Given the description of an element on the screen output the (x, y) to click on. 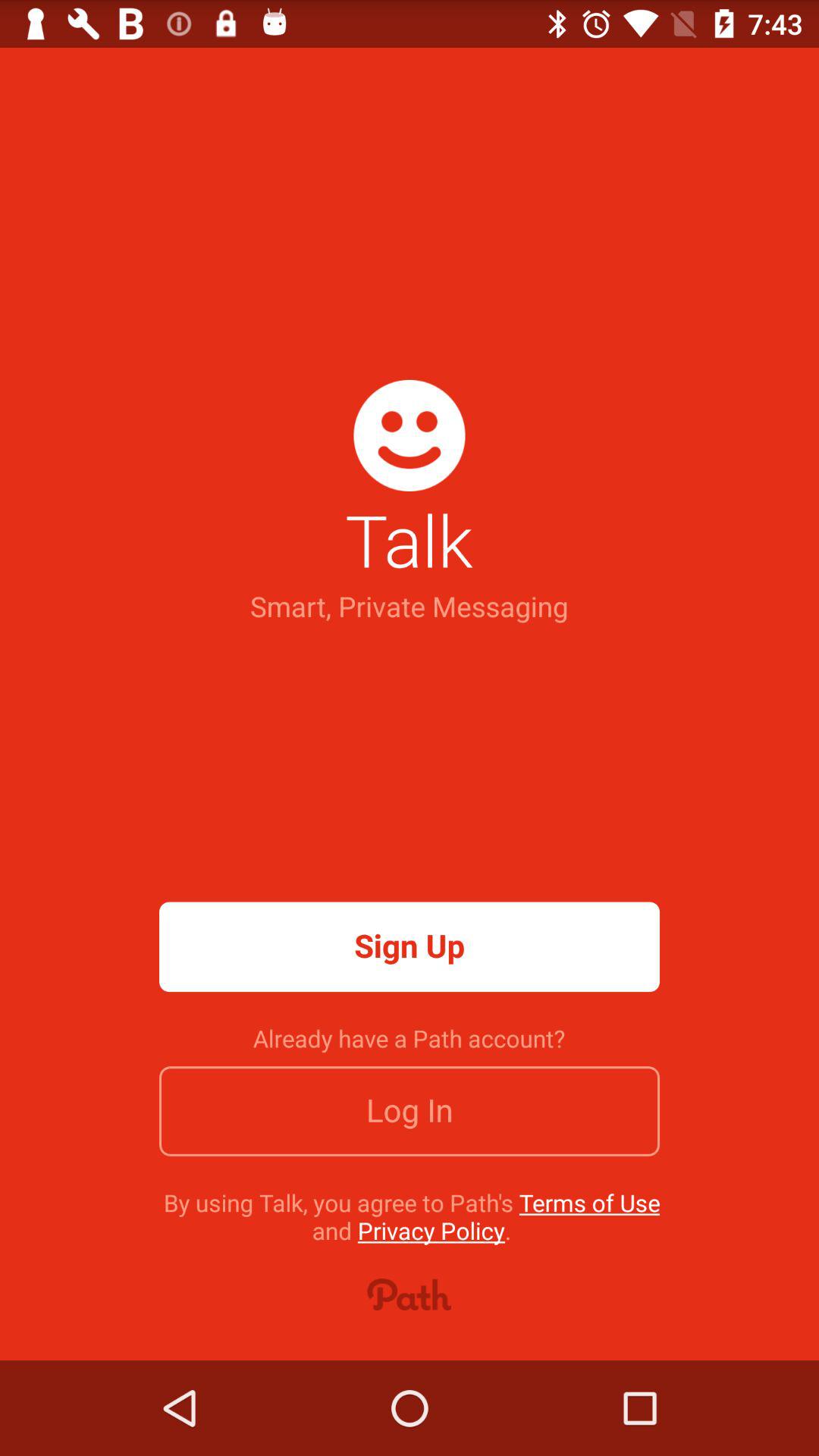
turn on item below the log in item (411, 1216)
